Given the description of an element on the screen output the (x, y) to click on. 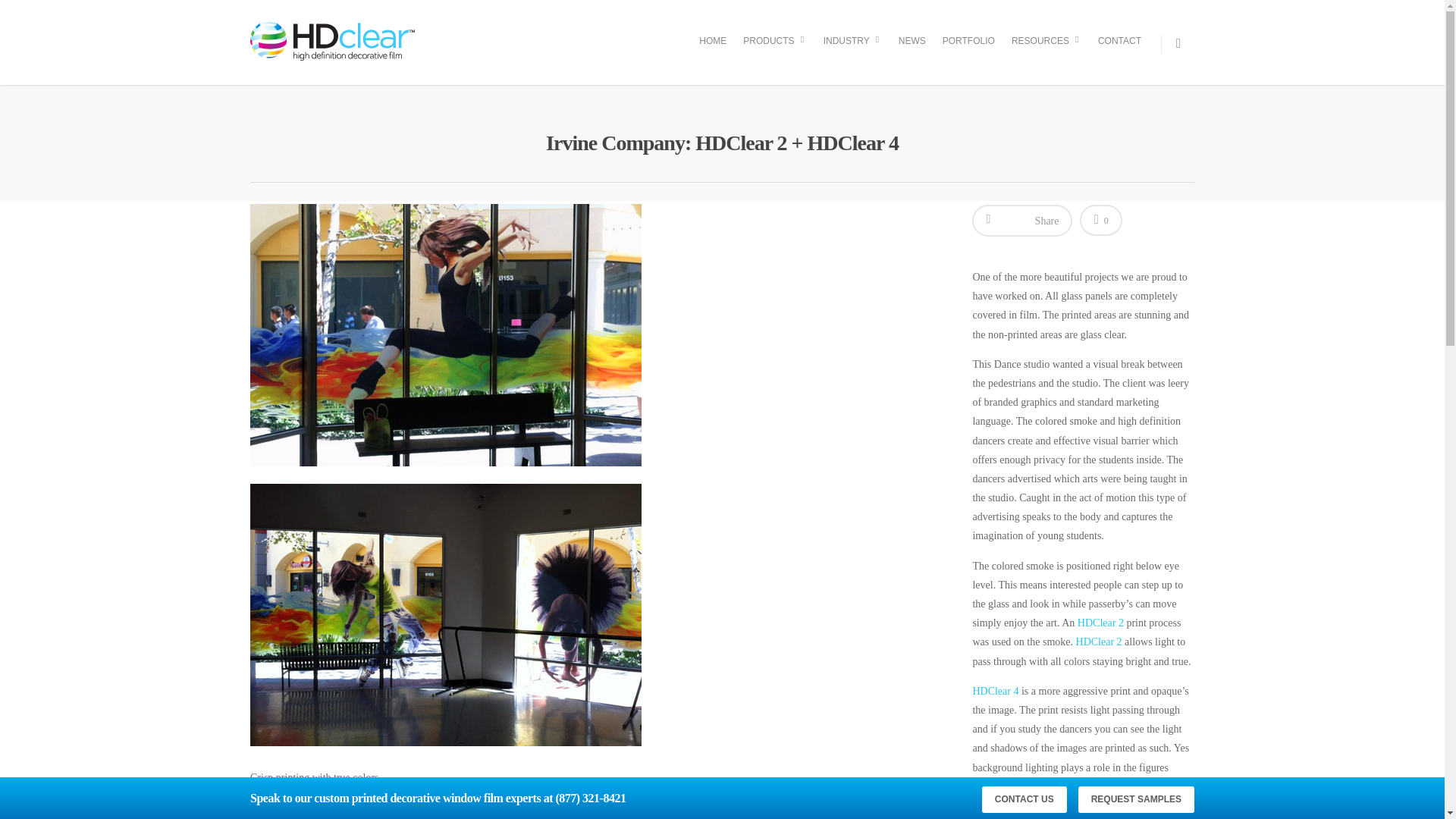
PORTFOLIO (968, 51)
INDUSTRY (852, 53)
Share (1021, 220)
CONTACT (1119, 51)
Love this (1100, 219)
PRODUCTS (774, 53)
RESOURCES (1046, 53)
